Given the description of an element on the screen output the (x, y) to click on. 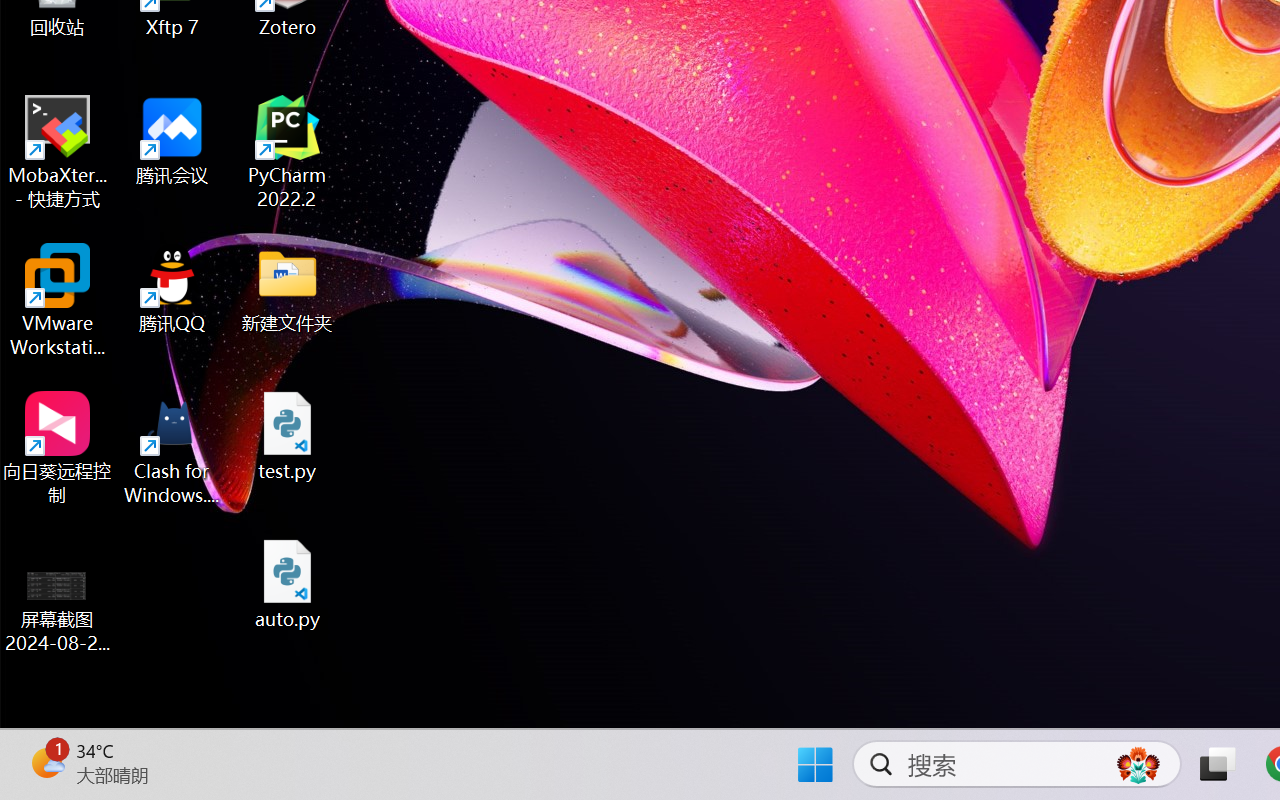
auto.py (287, 584)
test.py (287, 436)
VMware Workstation Pro (57, 300)
PyCharm 2022.2 (287, 152)
